Given the description of an element on the screen output the (x, y) to click on. 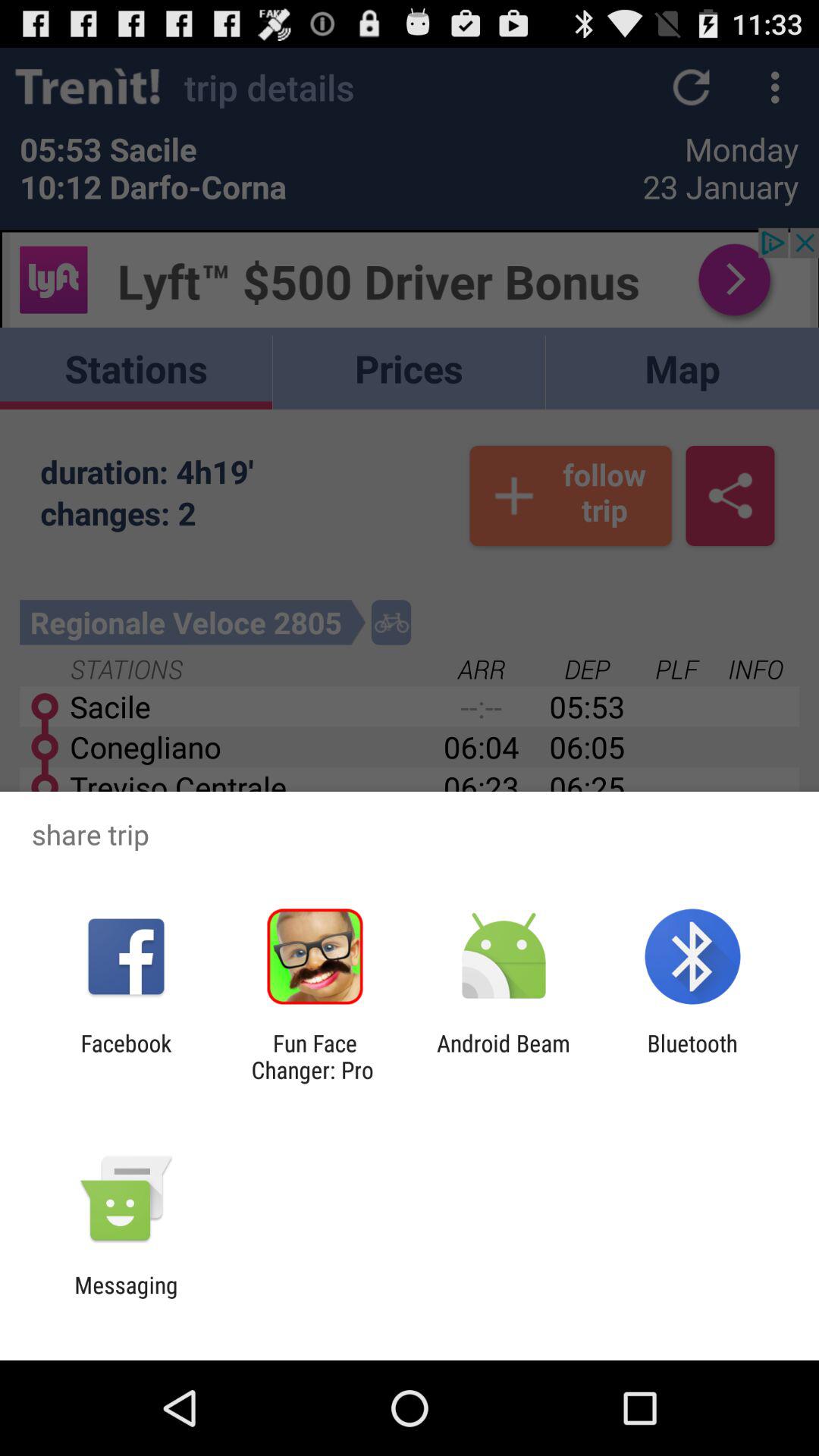
select the icon next to bluetooth app (503, 1056)
